Given the description of an element on the screen output the (x, y) to click on. 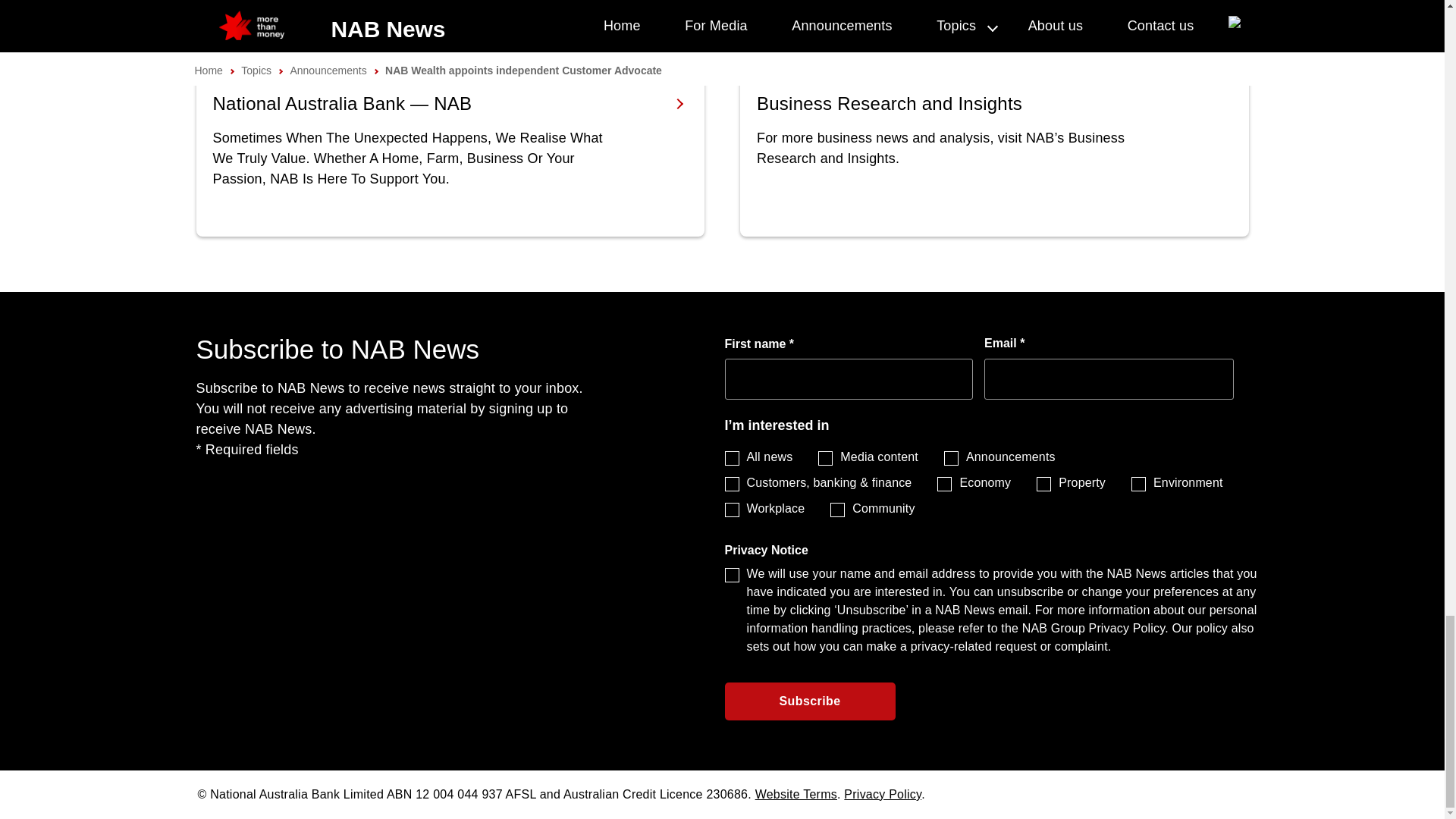
Subscribe (810, 701)
Find Our More (449, 154)
Find Our More (994, 154)
